Given the description of an element on the screen output the (x, y) to click on. 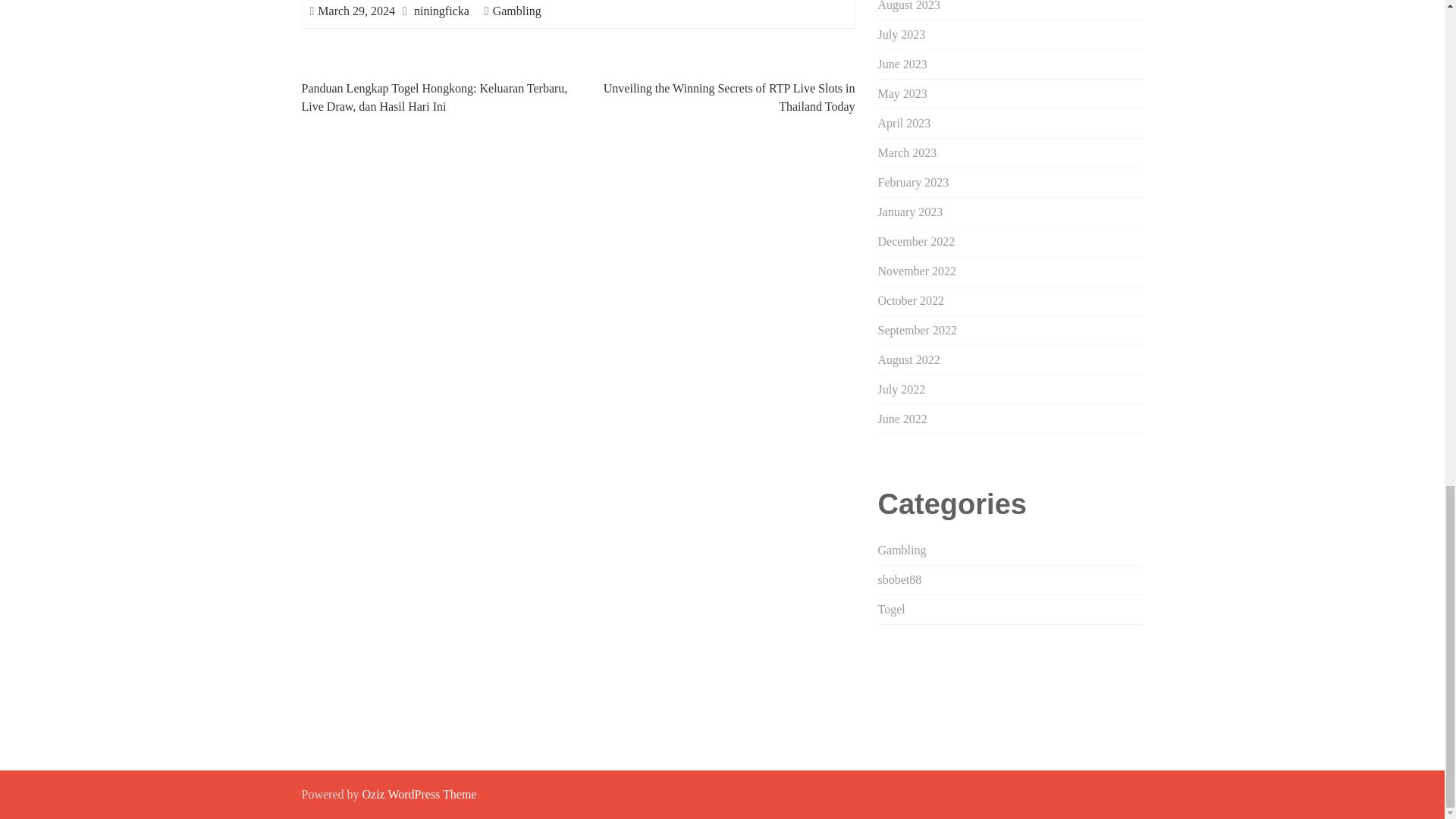
March 29, 2024 (355, 10)
niningficka (440, 10)
June 2023 (902, 63)
November 2022 (916, 270)
July 2023 (901, 33)
December 2022 (916, 241)
January 2023 (910, 211)
August 2023 (908, 5)
March 2023 (907, 152)
